Given the description of an element on the screen output the (x, y) to click on. 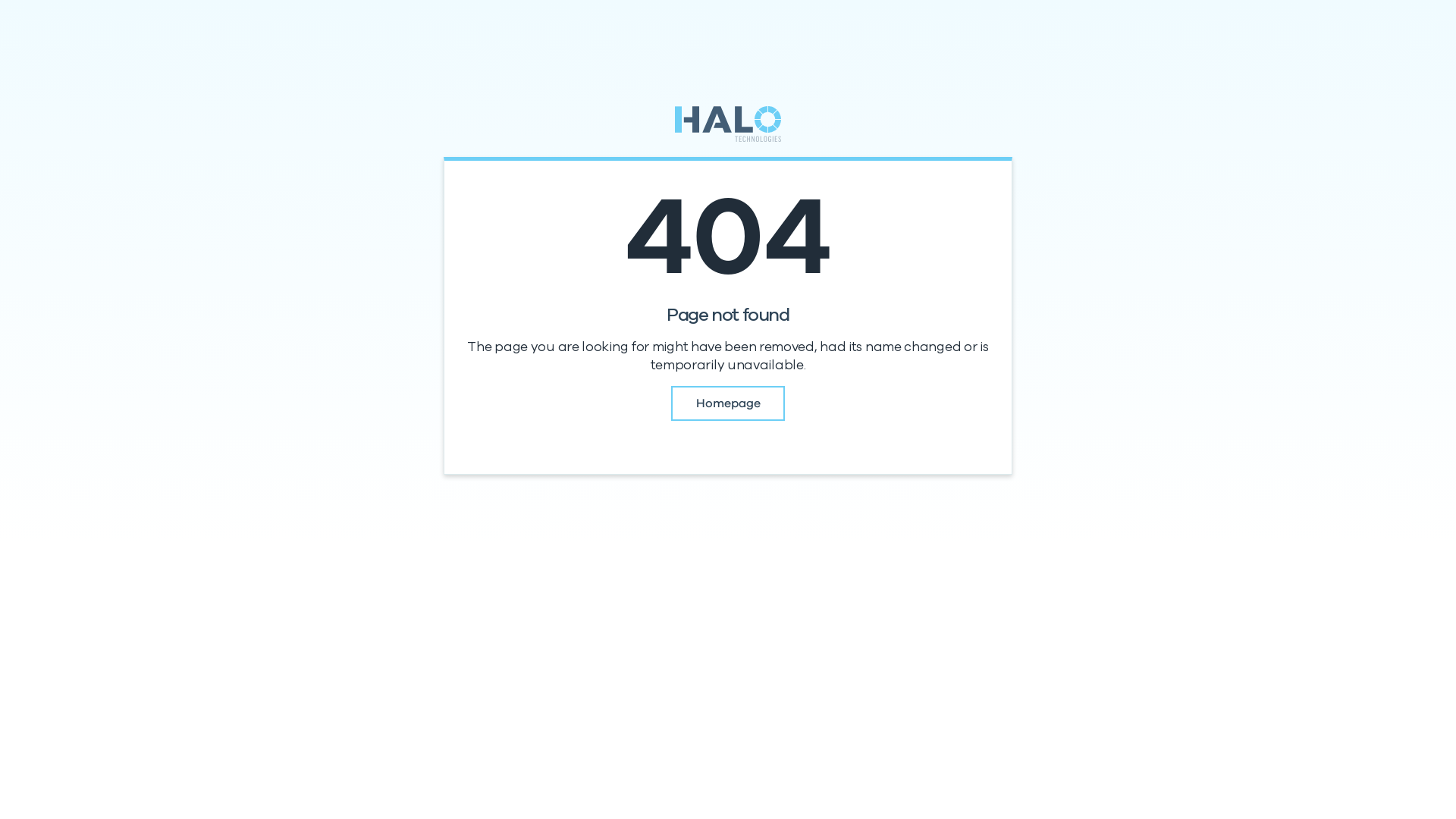
Homepage Element type: text (727, 402)
